Given the description of an element on the screen output the (x, y) to click on. 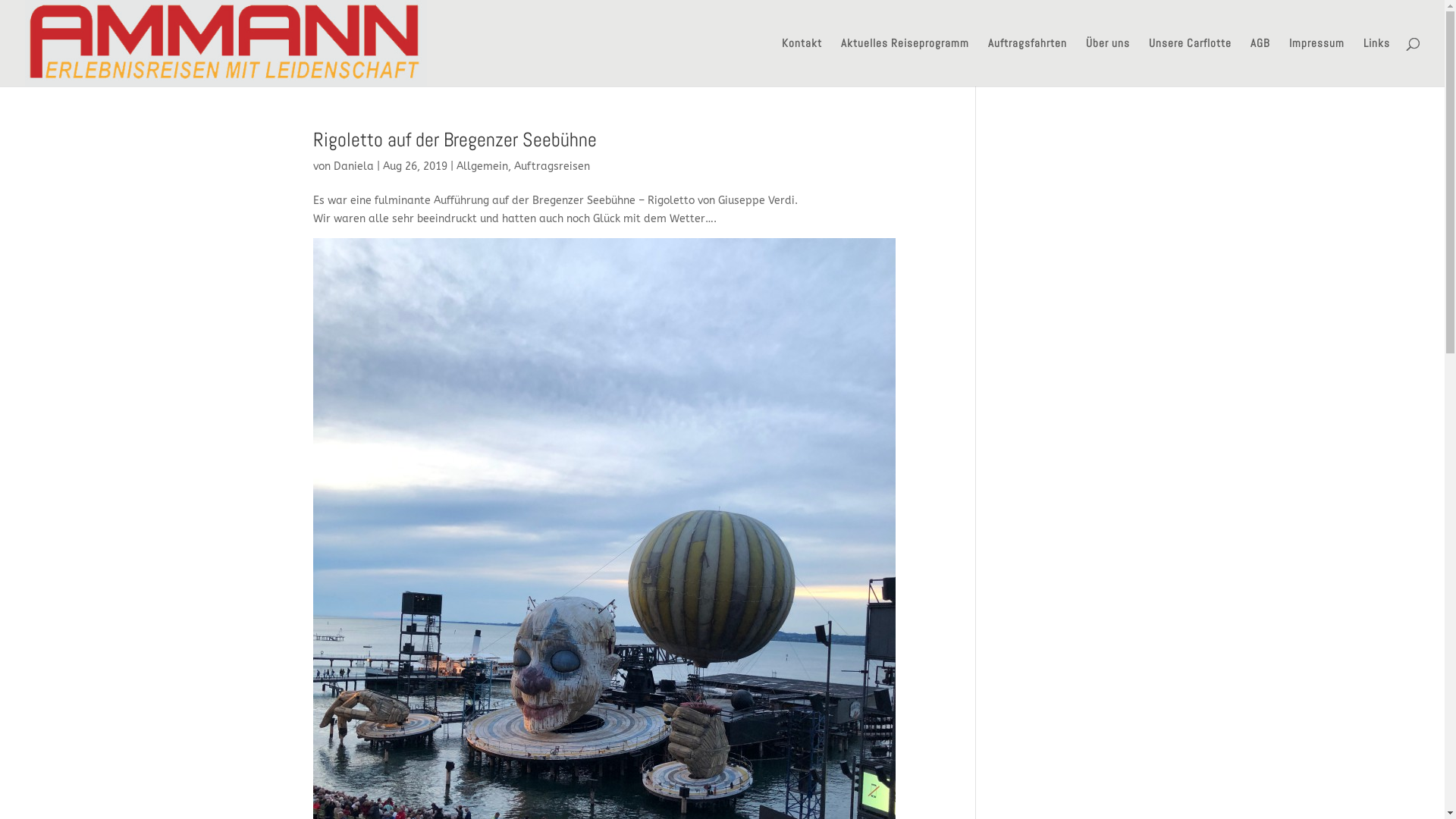
Auftragsreisen Element type: text (551, 166)
Aktuelles Reiseprogramm Element type: text (904, 61)
Impressum Element type: text (1316, 61)
Kontakt Element type: text (801, 61)
Unsere Carflotte Element type: text (1189, 61)
Daniela Element type: text (353, 166)
Auftragsfahrten Element type: text (1027, 61)
Allgemein Element type: text (482, 166)
AGB Element type: text (1260, 61)
Links Element type: text (1376, 61)
